Given the description of an element on the screen output the (x, y) to click on. 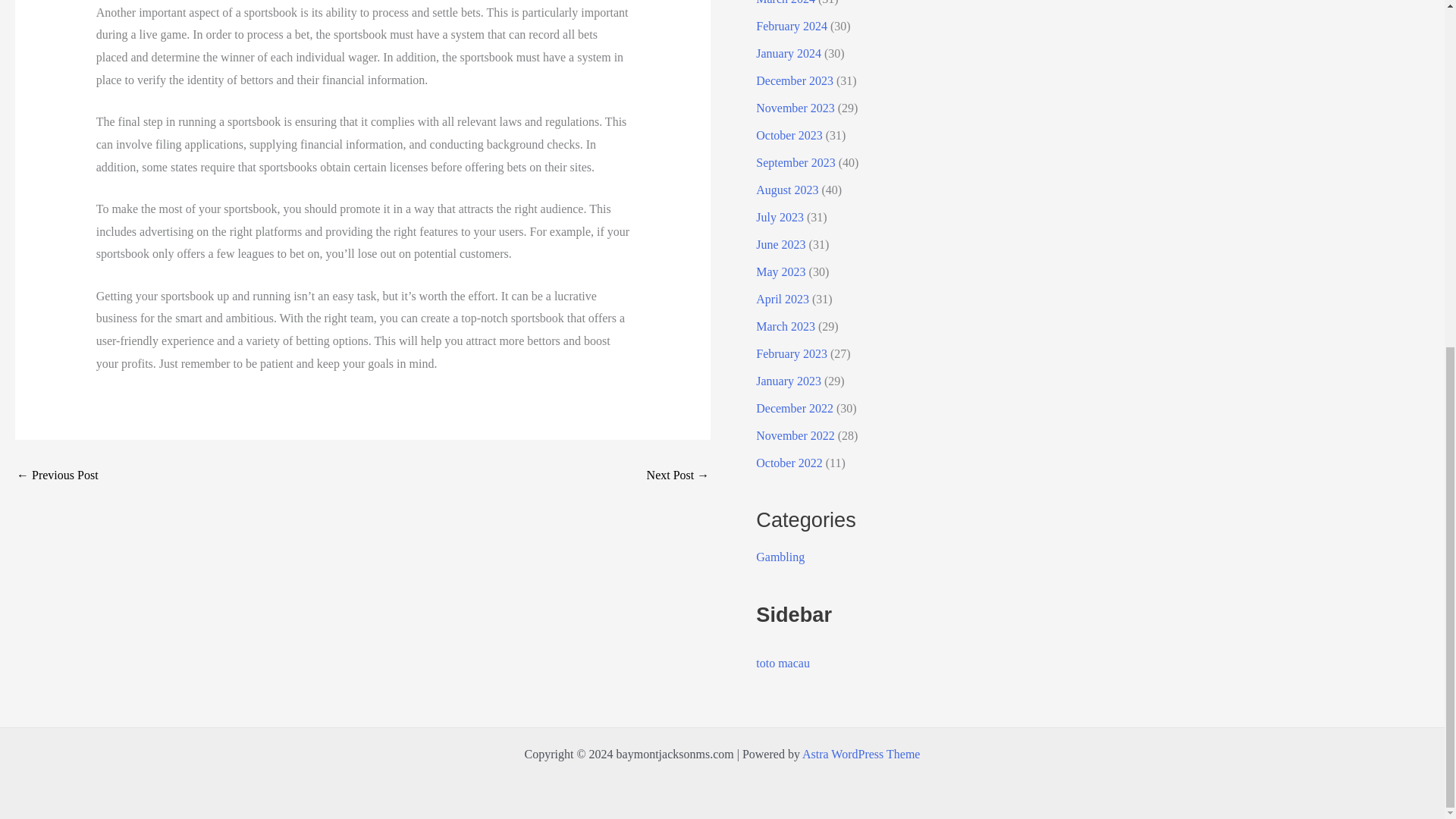
November 2022 (794, 435)
May 2023 (780, 271)
September 2023 (794, 162)
toto macau (782, 662)
March 2023 (785, 326)
January 2023 (788, 380)
What Is a Slot? (678, 475)
August 2023 (786, 189)
June 2023 (780, 244)
April 2023 (782, 298)
November 2023 (794, 107)
The Importance of a Good Poker Strategy (57, 475)
February 2023 (791, 353)
January 2024 (788, 52)
October 2022 (788, 462)
